Given the description of an element on the screen output the (x, y) to click on. 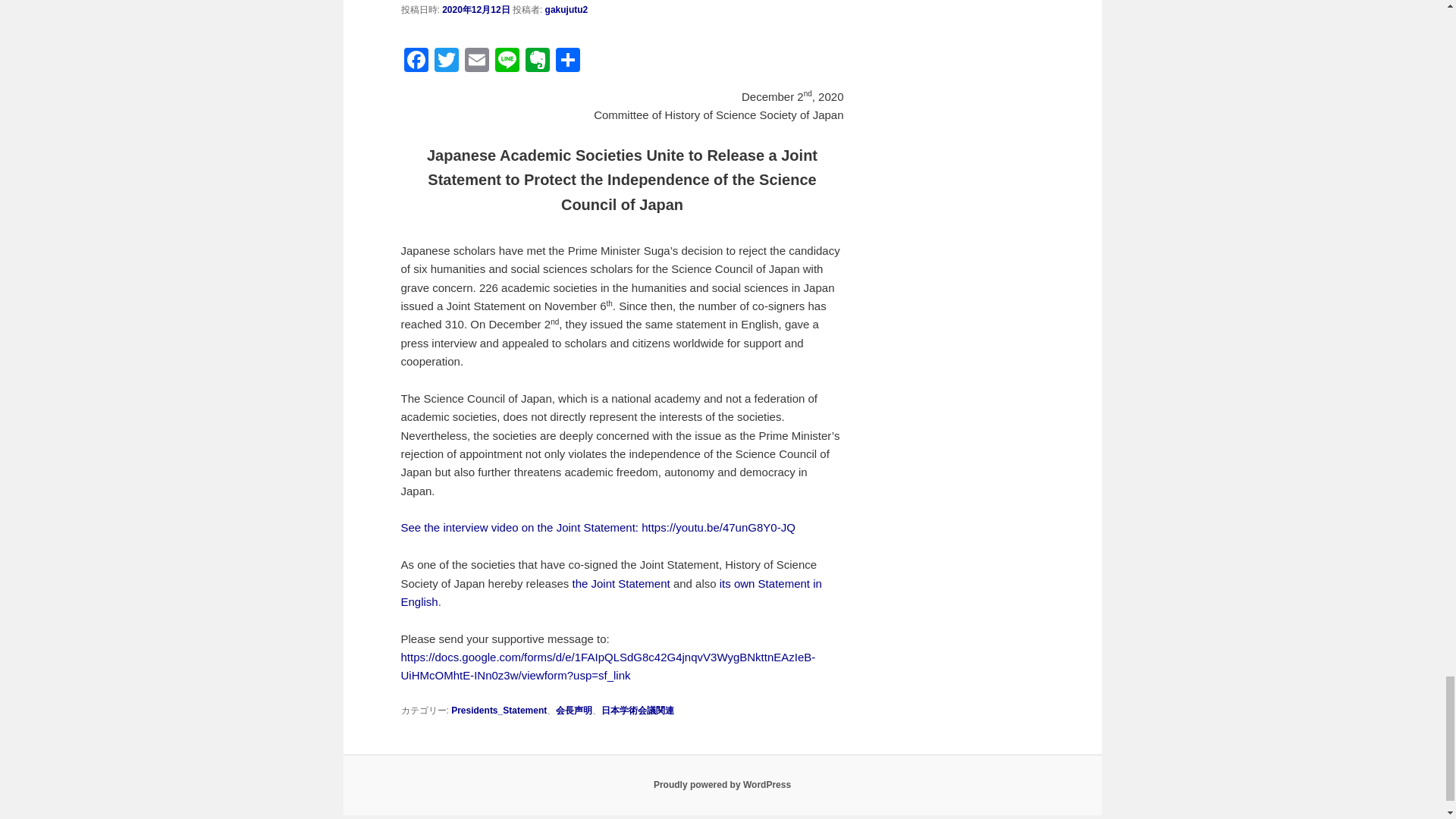
9:01 AM (475, 9)
